Given the description of an element on the screen output the (x, y) to click on. 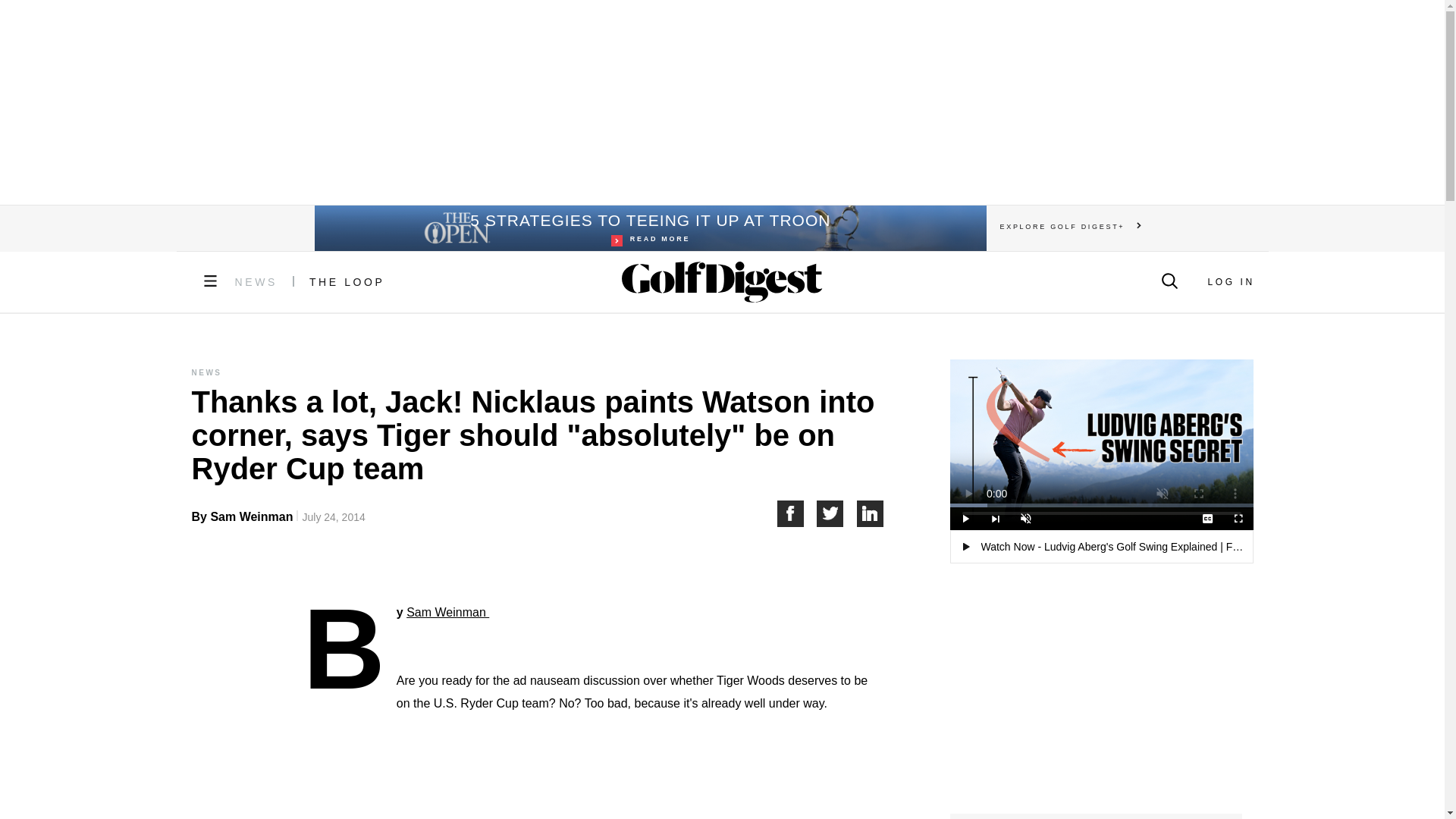
Next playlist item (994, 517)
Share on LinkedIn (870, 513)
Unmute (1025, 517)
NEWS (256, 282)
Share on Twitter (836, 513)
3rd party ad content (649, 227)
Play (593, 789)
THE LOOP (964, 517)
3rd party ad content (346, 282)
LOG IN (721, 101)
Share on Facebook (1230, 281)
